Given the description of an element on the screen output the (x, y) to click on. 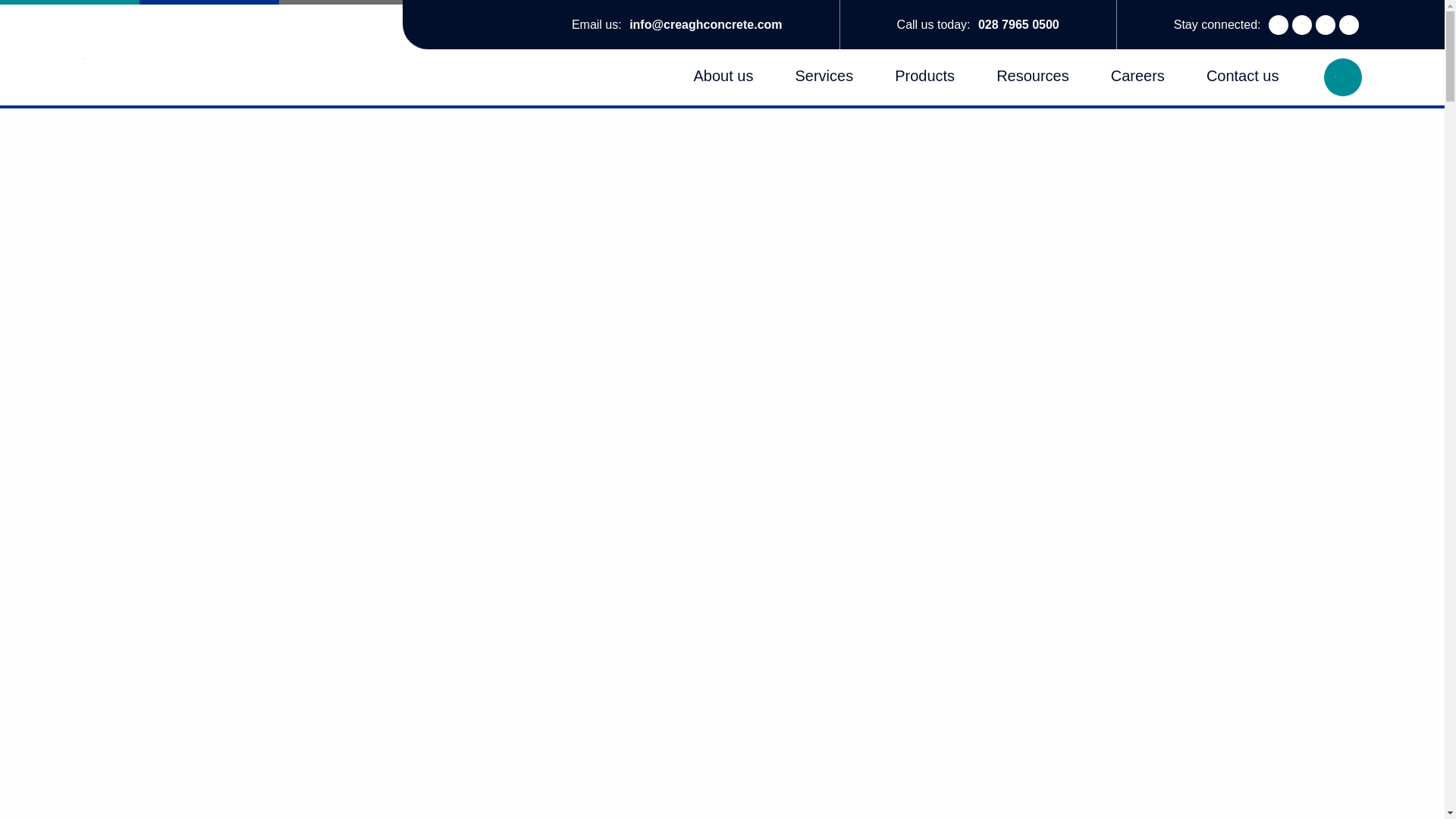
Products (925, 75)
028 7965 0500 (1018, 24)
Careers (1137, 75)
Resources (1031, 75)
Contact us (1243, 75)
Services (823, 75)
About us (724, 75)
